Given the description of an element on the screen output the (x, y) to click on. 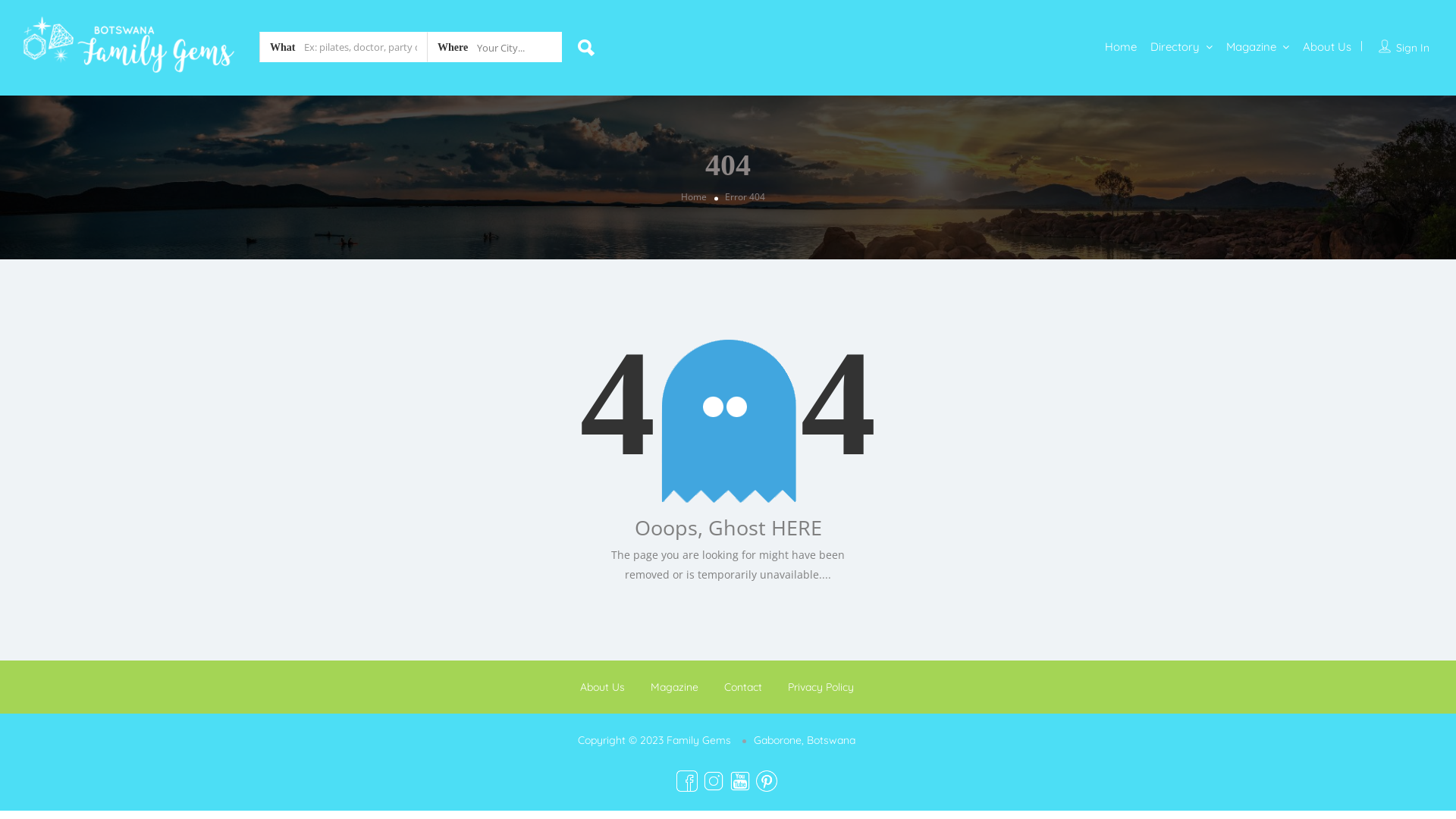
About Us Element type: text (1326, 46)
Magazine Element type: text (1251, 46)
Home Element type: text (693, 195)
Magazine Element type: text (674, 686)
Contact Element type: text (742, 686)
Your City... Element type: text (494, 45)
Directory Element type: text (1174, 46)
Home Element type: text (1120, 46)
Privacy Policy Element type: text (820, 686)
About Us Element type: text (601, 686)
Sign In Element type: text (1412, 47)
